Given the description of an element on the screen output the (x, y) to click on. 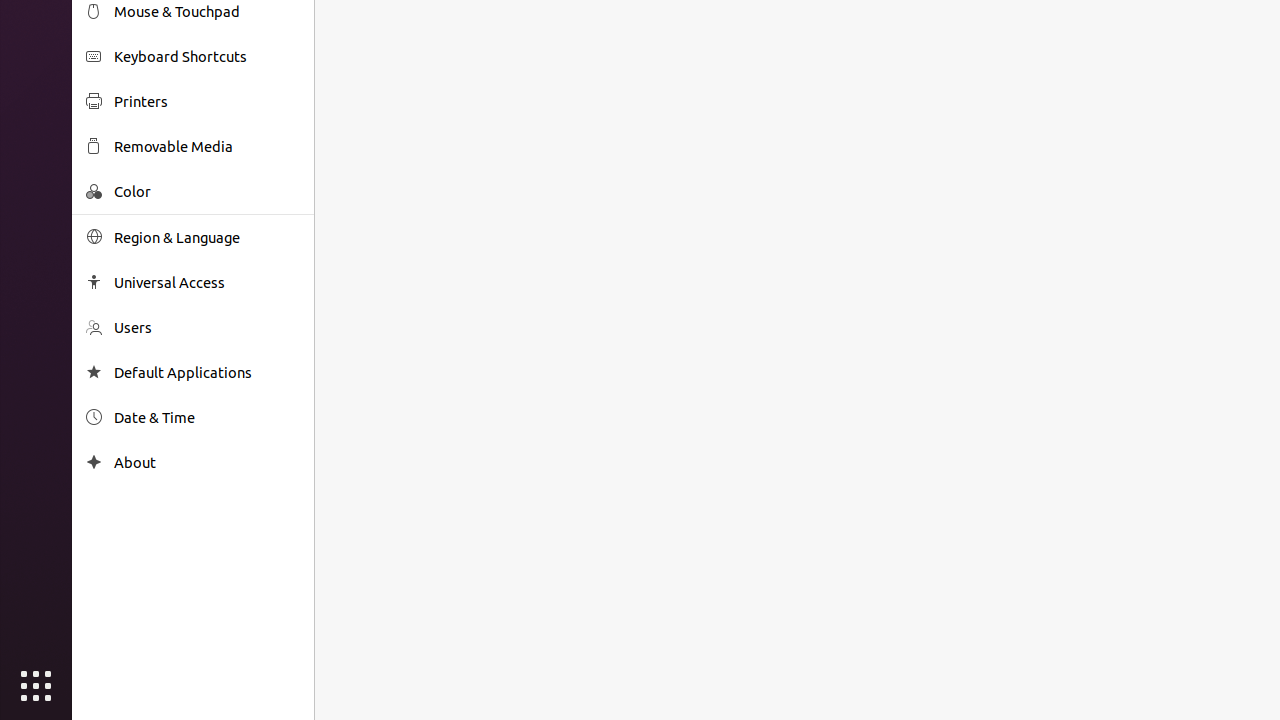
Keyboard Shortcuts Element type: label (207, 56)
Users Element type: label (207, 327)
Mouse & Touchpad Element type: label (207, 11)
Date & Time Element type: label (207, 417)
